Given the description of an element on the screen output the (x, y) to click on. 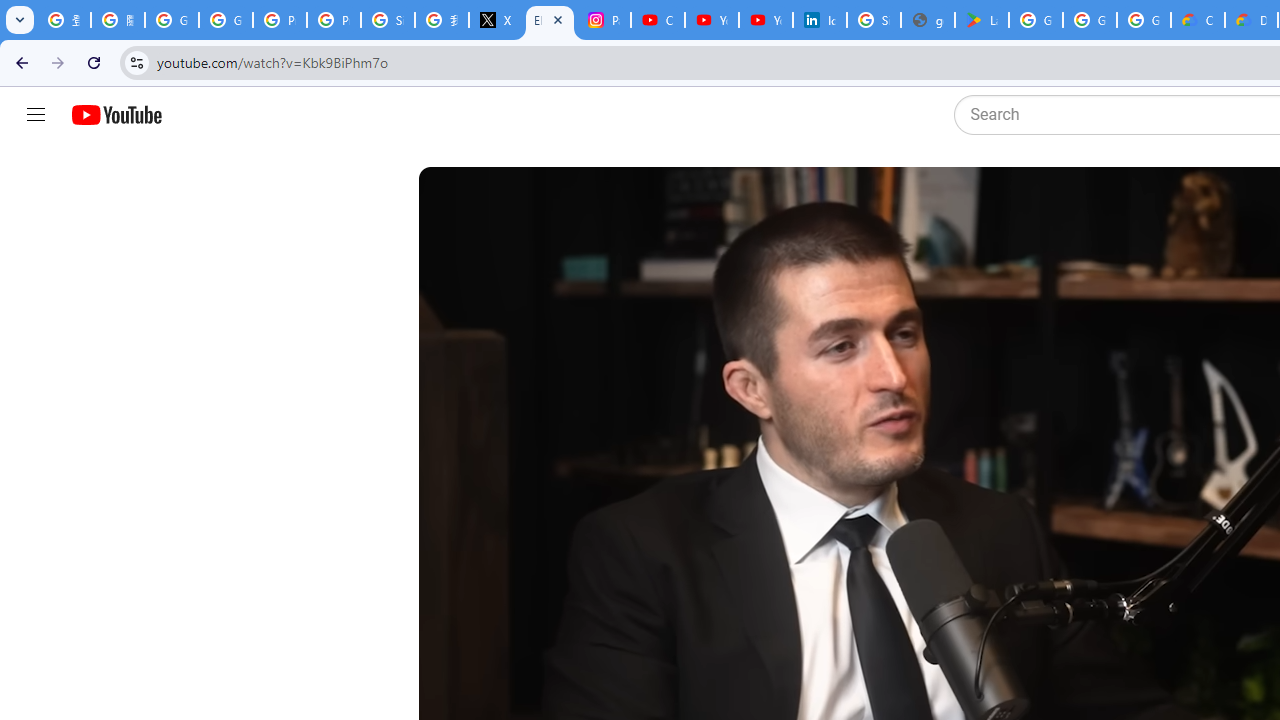
Guide (35, 115)
Customer Care | Google Cloud (1197, 20)
YouTube Home (116, 115)
Privacy Help Center - Policies Help (280, 20)
